Given the description of an element on the screen output the (x, y) to click on. 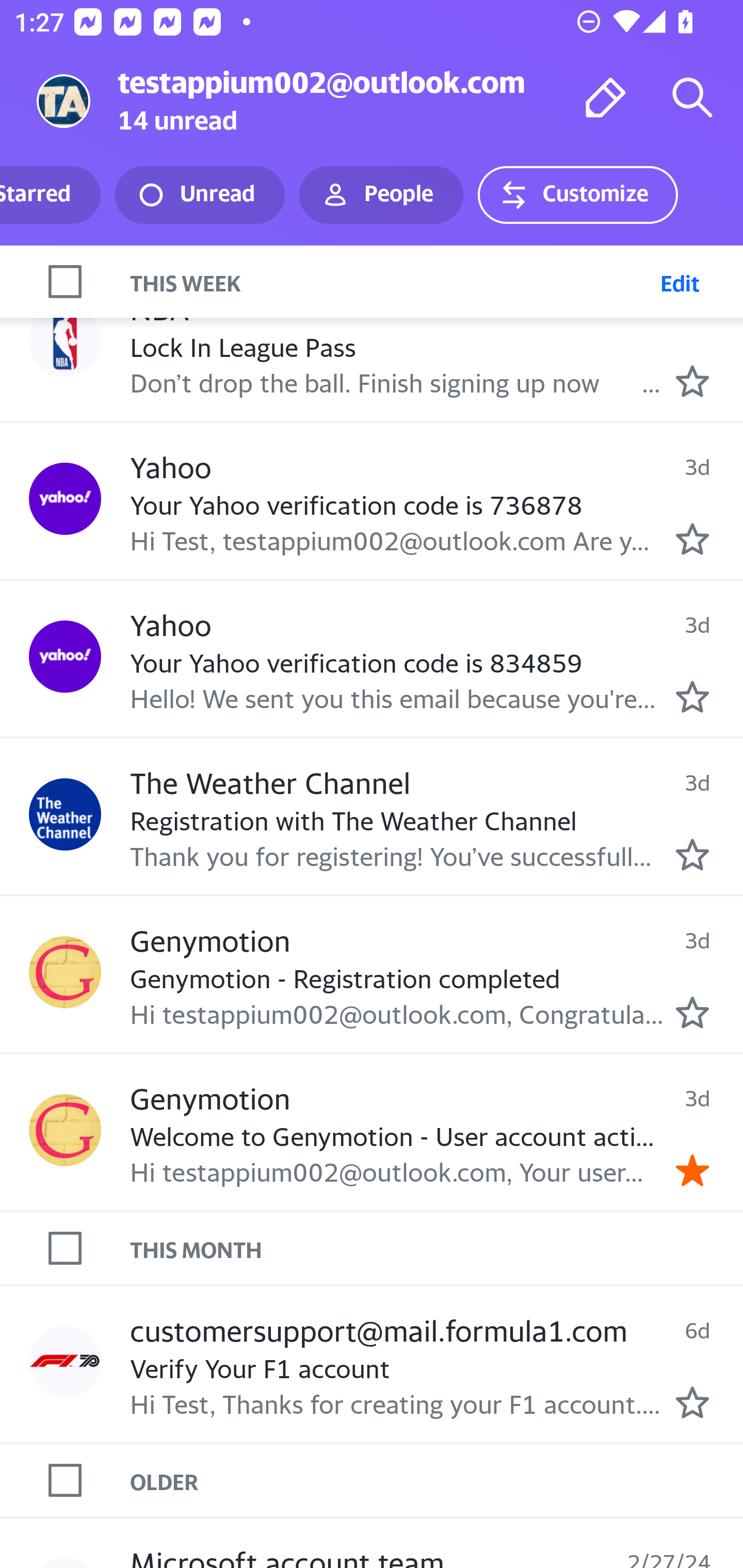
Compose (605, 97)
Search mail (692, 97)
Unread (199, 195)
People (381, 195)
Customize (577, 195)
Profile
NBA (64, 340)
Mark as starred. (692, 381)
Profile
Yahoo (64, 498)
Mark as starred. (692, 538)
Profile
Yahoo (64, 656)
Mark as starred. (692, 696)
Profile
The Weather Channel (64, 813)
Mark as starred. (692, 855)
Profile
Genymotion (64, 972)
Mark as starred. (692, 1012)
Profile
Genymotion (64, 1130)
Remove star. (692, 1170)
THIS MONTH (436, 1248)
Profile
customersupport@mail.formula1.com (64, 1362)
Mark as starred. (692, 1402)
OLDER (436, 1480)
